Given the description of an element on the screen output the (x, y) to click on. 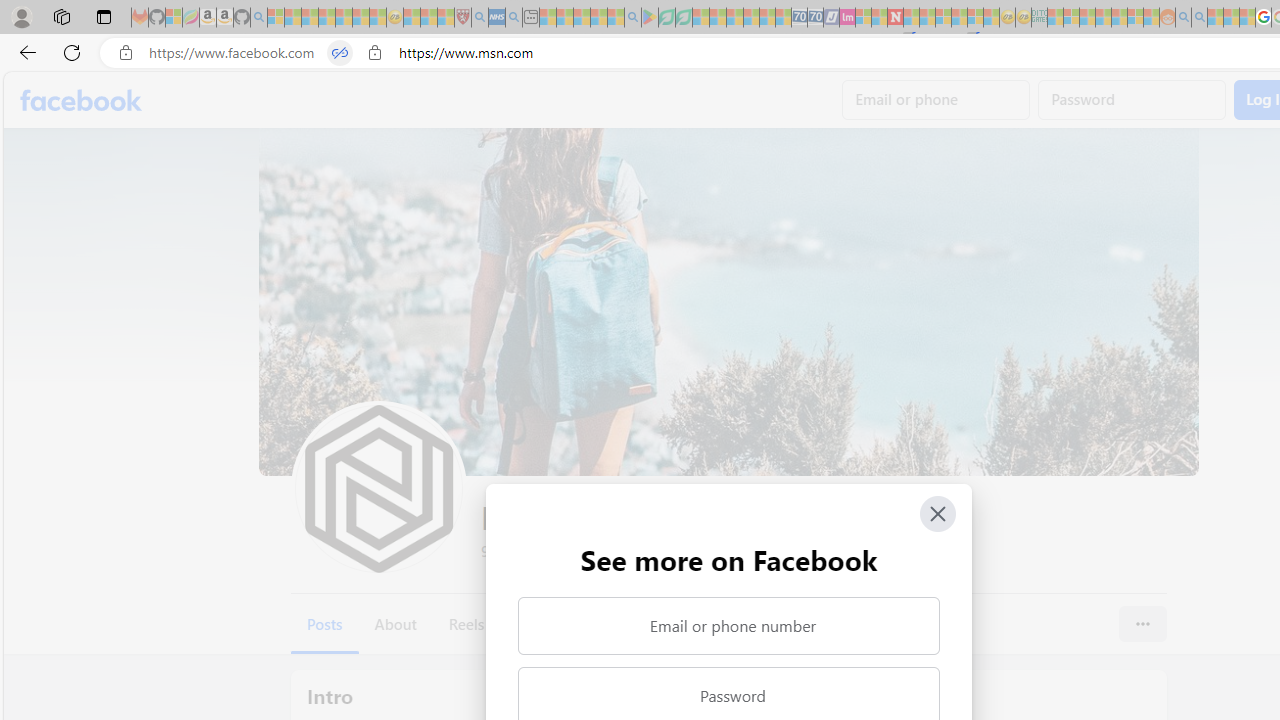
Facebook (81, 99)
Microsoft-Report a Concern to Bing - Sleeping (173, 17)
NCL Adult Asthma Inhaler Choice Guideline - Sleeping (497, 17)
Password (1132, 99)
DITOGAMES AG Imprint - Sleeping (1039, 17)
Trusted Community Engagement and Contributions | Guidelines (911, 17)
Bluey: Let's Play! - Apps on Google Play - Sleeping (649, 17)
Email or phone (936, 99)
Microsoft account | Privacy - Sleeping (1071, 17)
